Given the description of an element on the screen output the (x, y) to click on. 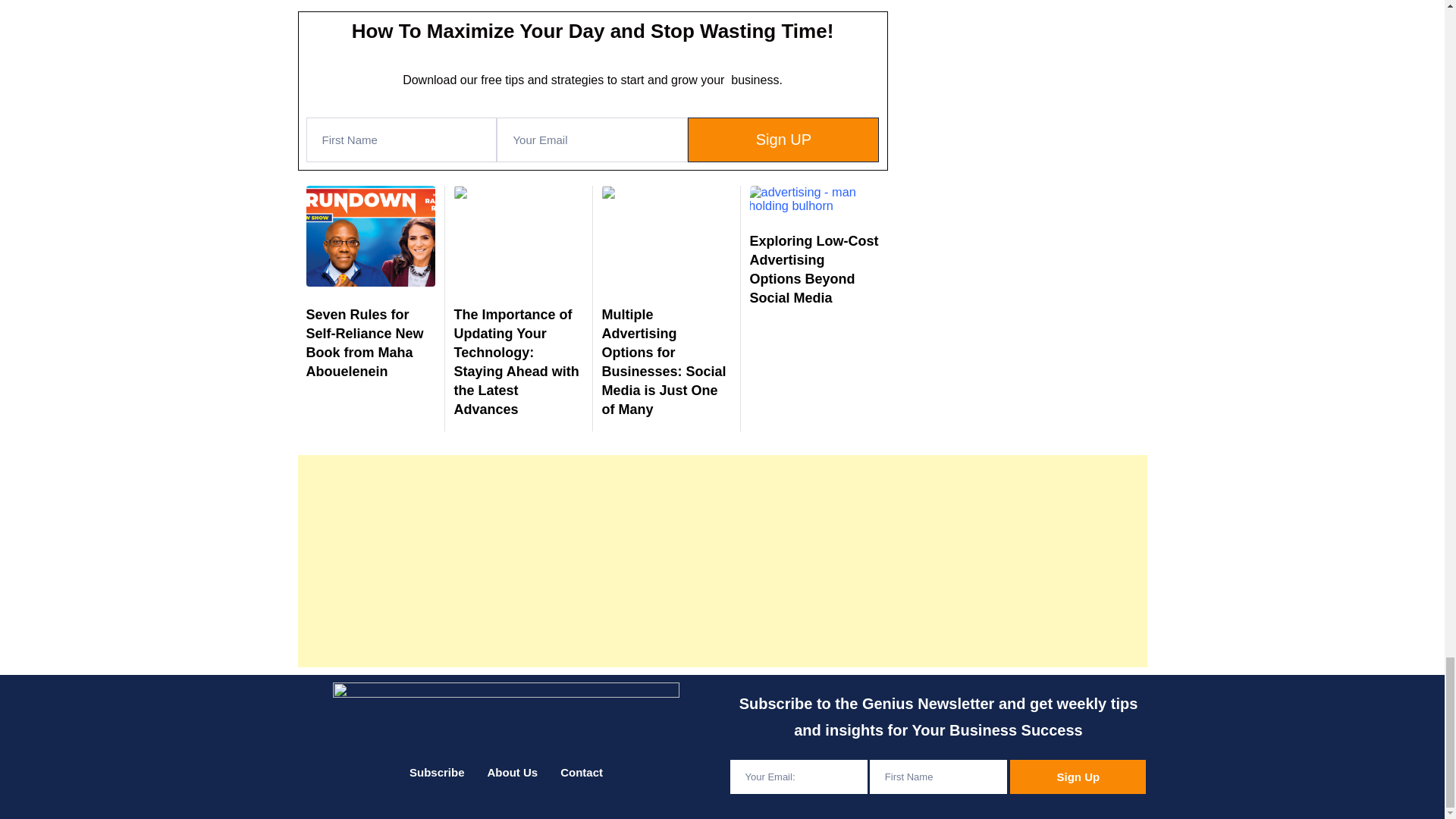
Seven Rules for Self-Reliance New Book from Maha Abouelenein (364, 343)
Sign UP (783, 139)
Exploring Low-Cost Advertising Options Beyond Social Media (813, 269)
